Given the description of an element on the screen output the (x, y) to click on. 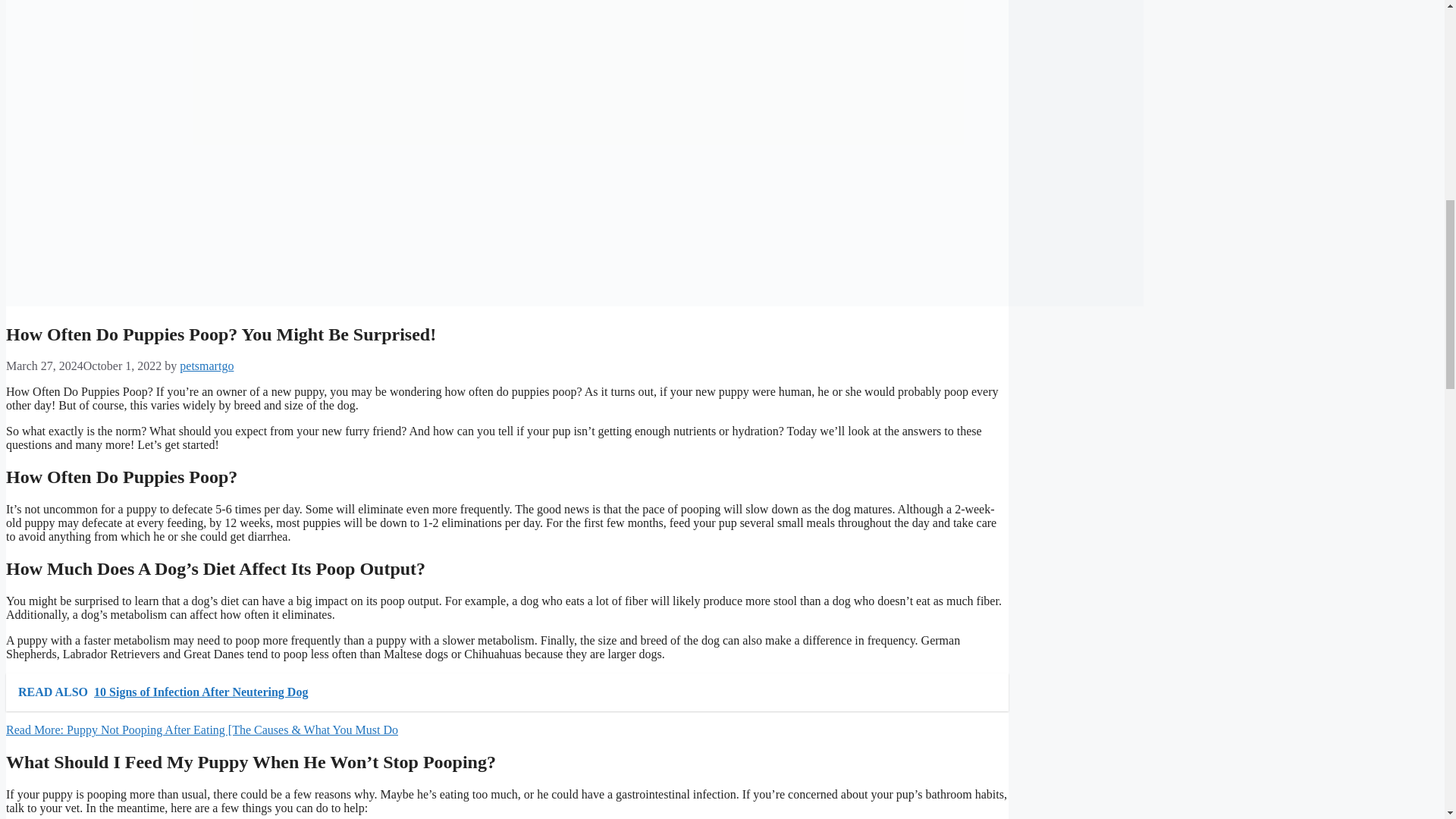
READ ALSO  10 Signs of Infection After Neutering Dog (507, 692)
petsmartgo (205, 365)
View all posts by petsmartgo (205, 365)
Scroll back to top (1406, 720)
